Given the description of an element on the screen output the (x, y) to click on. 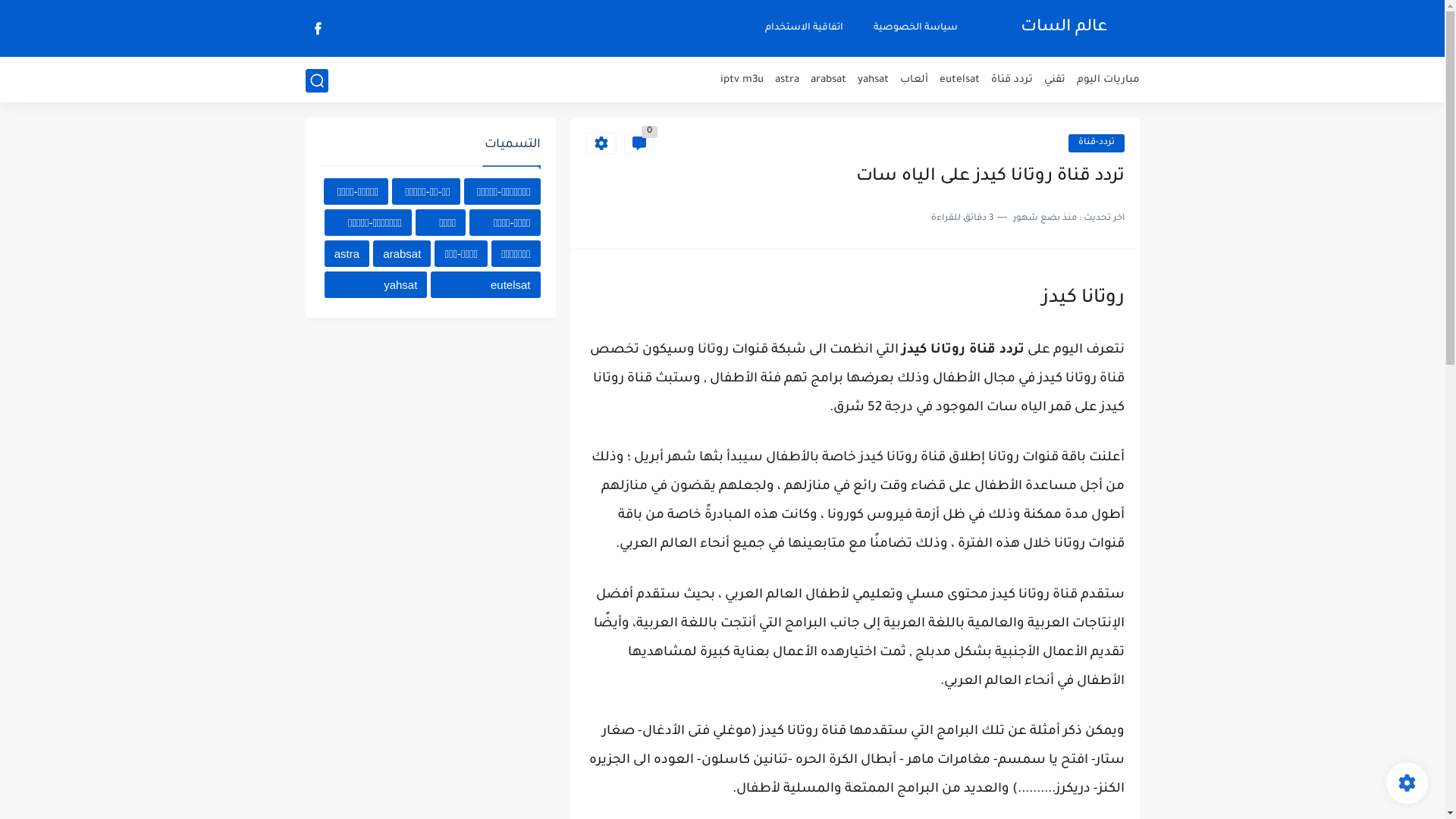
eutelsat Element type: text (958, 79)
facebook Element type: hover (318, 28)
astra Element type: text (347, 253)
0 Element type: text (638, 142)
yahsat Element type: text (375, 284)
eutelsat Element type: text (484, 284)
arabsat Element type: text (401, 253)
yahsat Element type: text (872, 79)
astra Element type: text (787, 79)
arabsat Element type: text (827, 79)
iptv m3u Element type: text (741, 79)
